Given the description of an element on the screen output the (x, y) to click on. 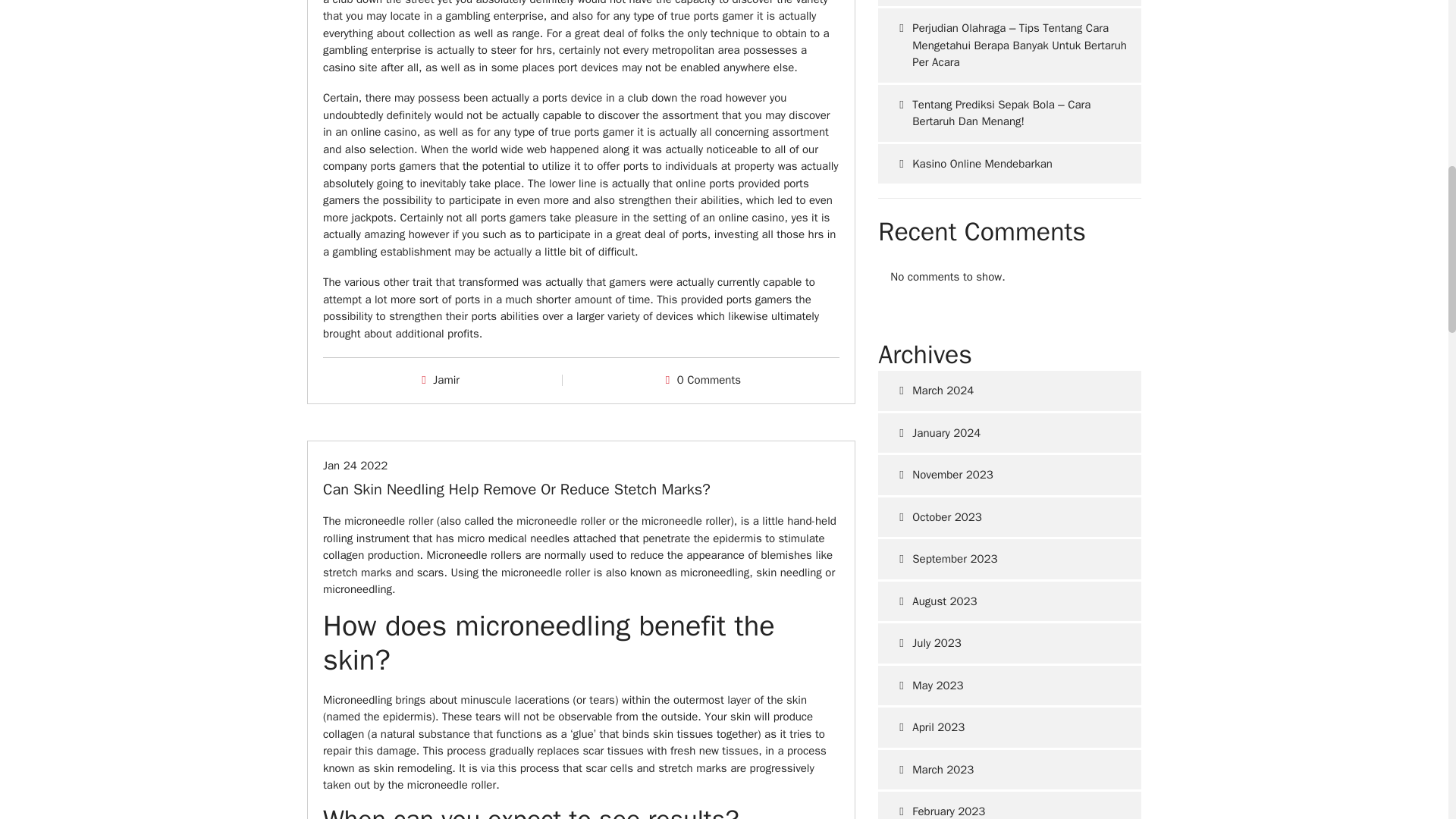
Jamir (446, 379)
Jan 24 2022 (355, 465)
Can Skin Needling Help Remove Or Reduce Stetch Marks? (516, 488)
0 Comments (709, 379)
